Given the description of an element on the screen output the (x, y) to click on. 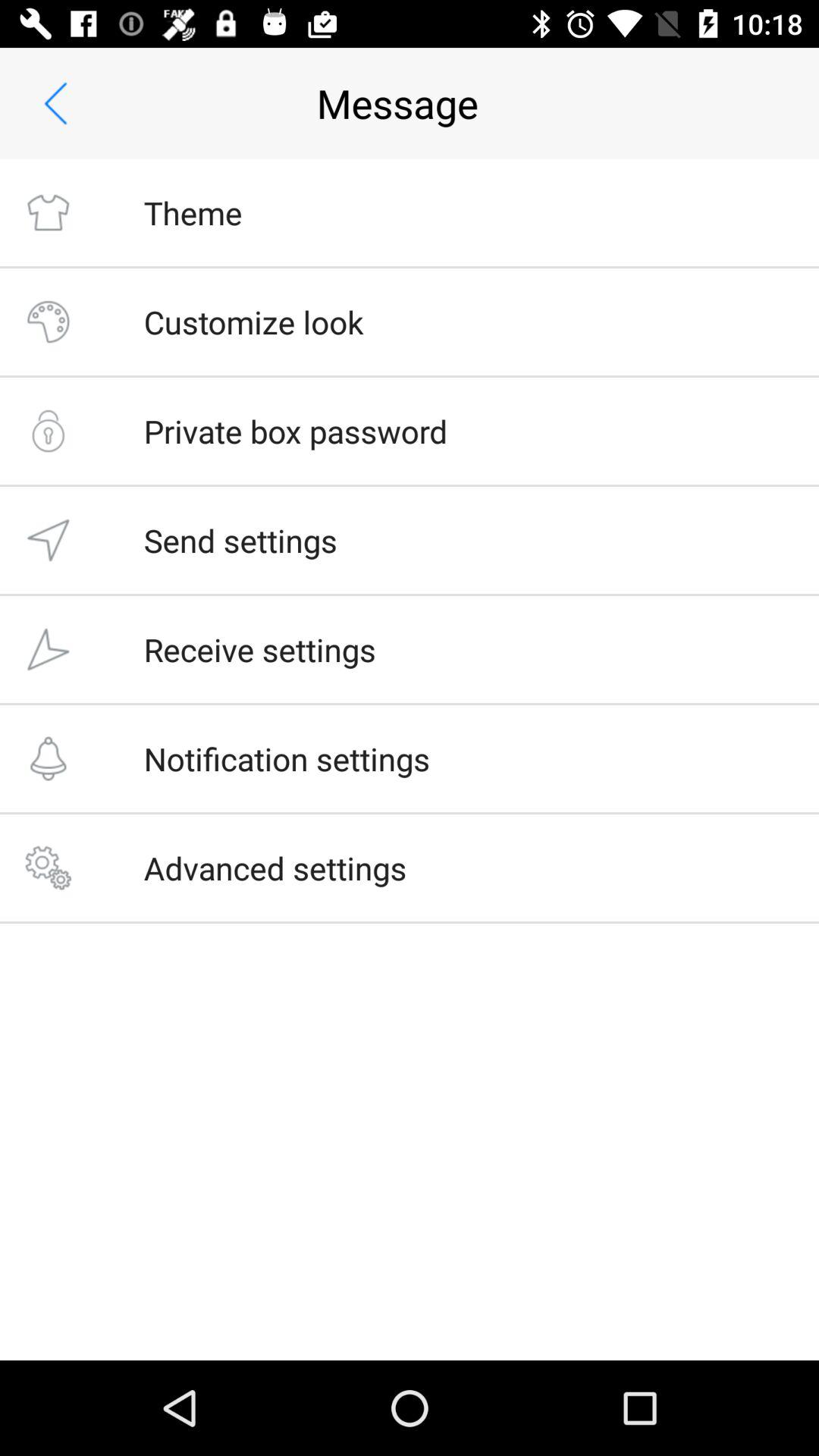
tap the customize look icon (253, 321)
